Given the description of an element on the screen output the (x, y) to click on. 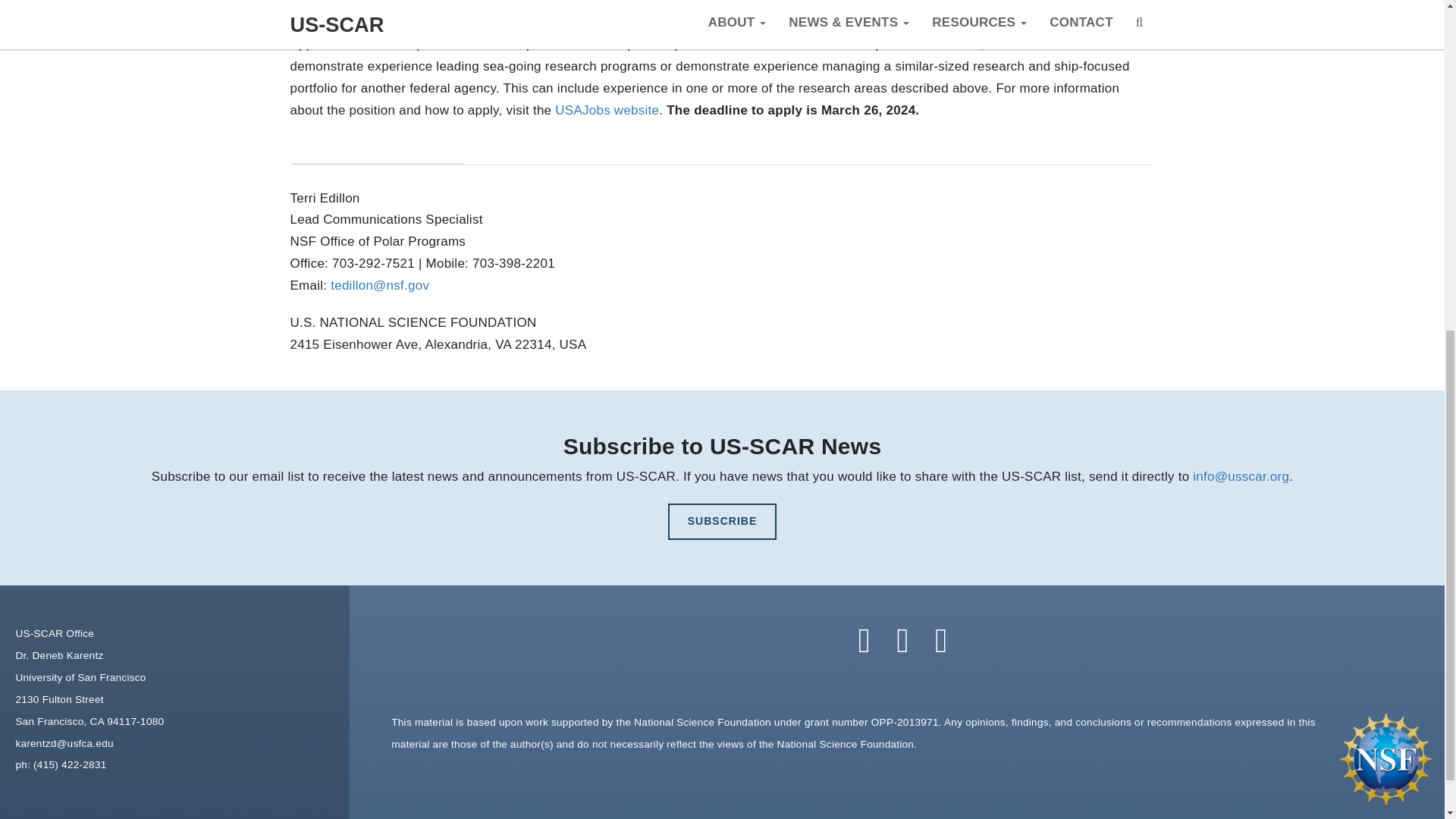
USAJobs website (606, 110)
SUBSCRIBE (722, 521)
National Science Foundation (1377, 758)
